Given the description of an element on the screen output the (x, y) to click on. 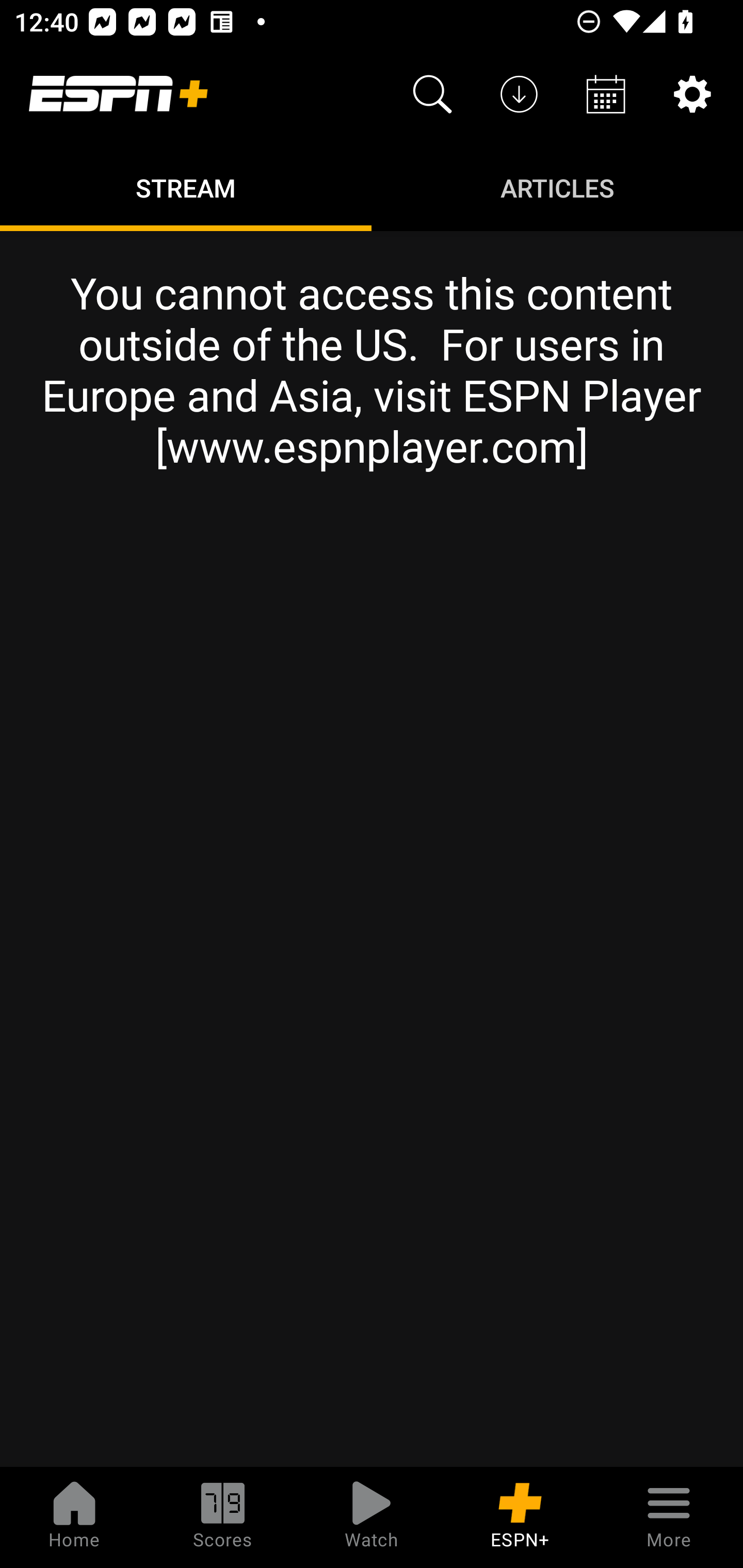
Search (432, 93)
Downloads (518, 93)
Schedule (605, 93)
Settings (692, 93)
Articles ARTICLES (557, 187)
Home (74, 1517)
Scores (222, 1517)
Watch (371, 1517)
More (668, 1517)
